Given the description of an element on the screen output the (x, y) to click on. 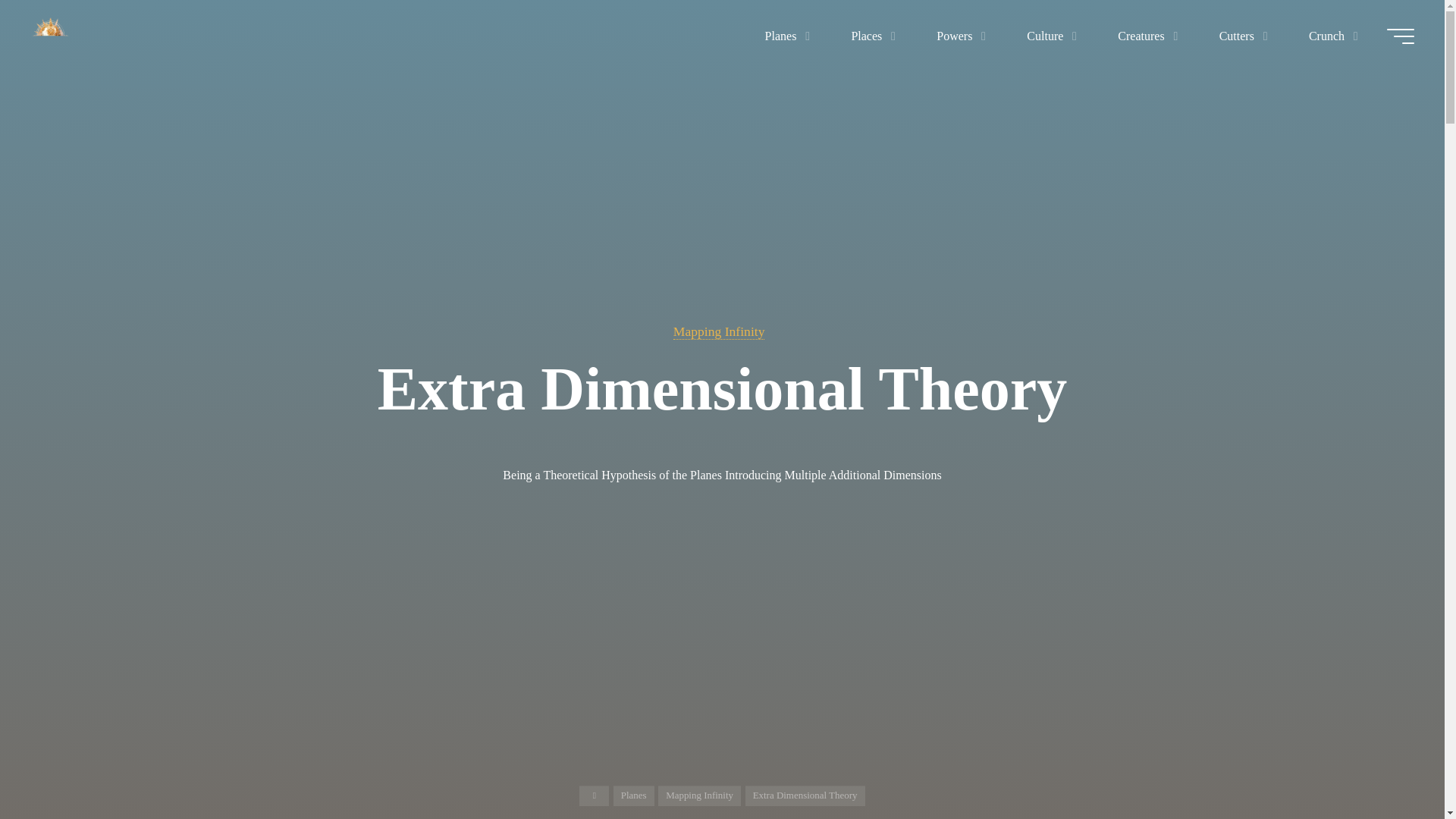
Planescape: I am the Mimir (49, 35)
Read more (721, 724)
Home (593, 795)
